Given the description of an element on the screen output the (x, y) to click on. 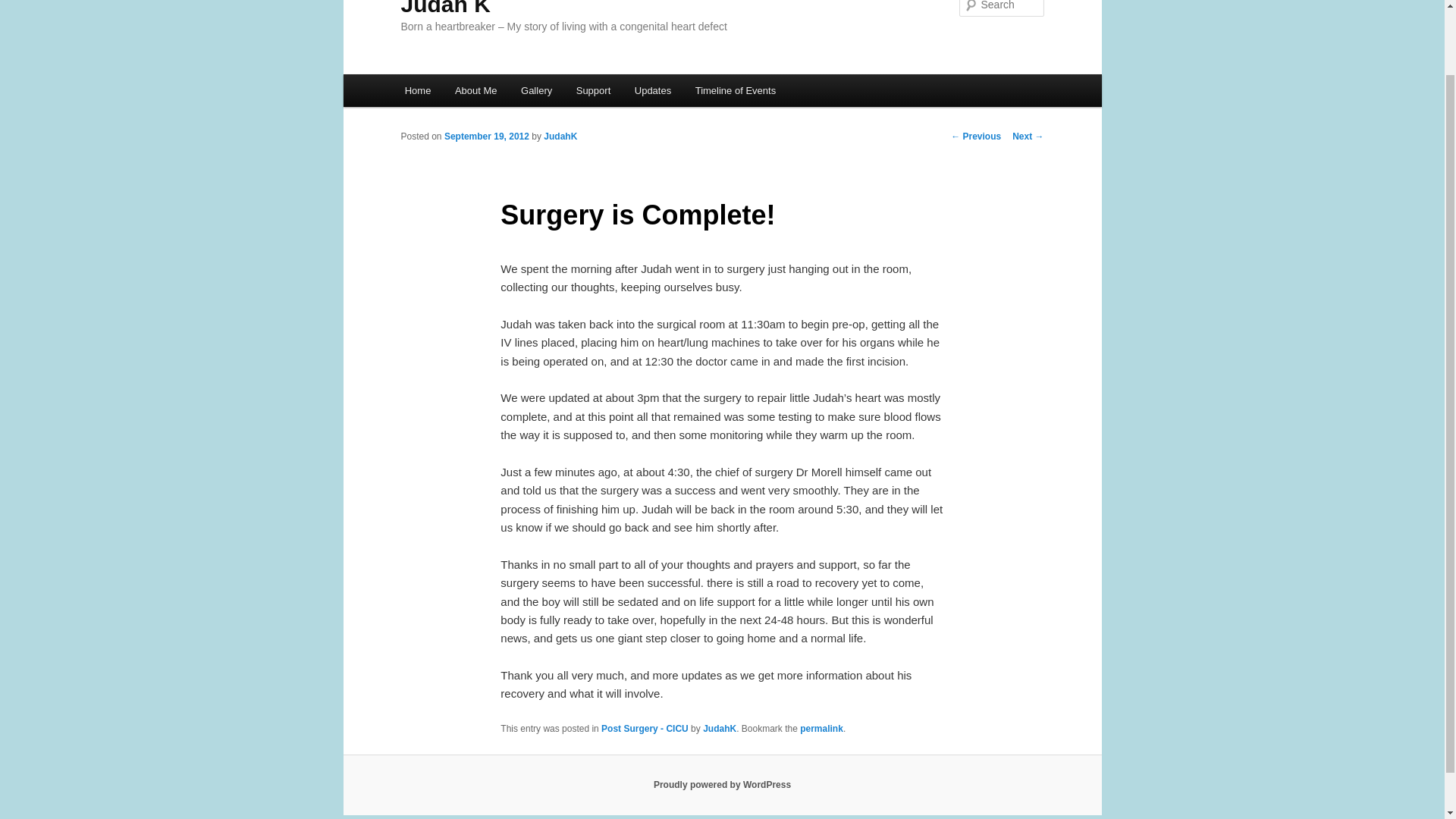
JudahK (559, 136)
Updates (652, 90)
Support (593, 90)
Semantic Personal Publishing Platform (721, 784)
4:40 pm (486, 136)
Gallery (536, 90)
JudahK (719, 728)
Timeline of Events (734, 90)
Permalink to Surgery is Complete! (821, 728)
permalink (821, 728)
Proudly powered by WordPress (721, 784)
About Me (475, 90)
Judah K (444, 8)
View all posts by JudahK (559, 136)
September 19, 2012 (486, 136)
